Given the description of an element on the screen output the (x, y) to click on. 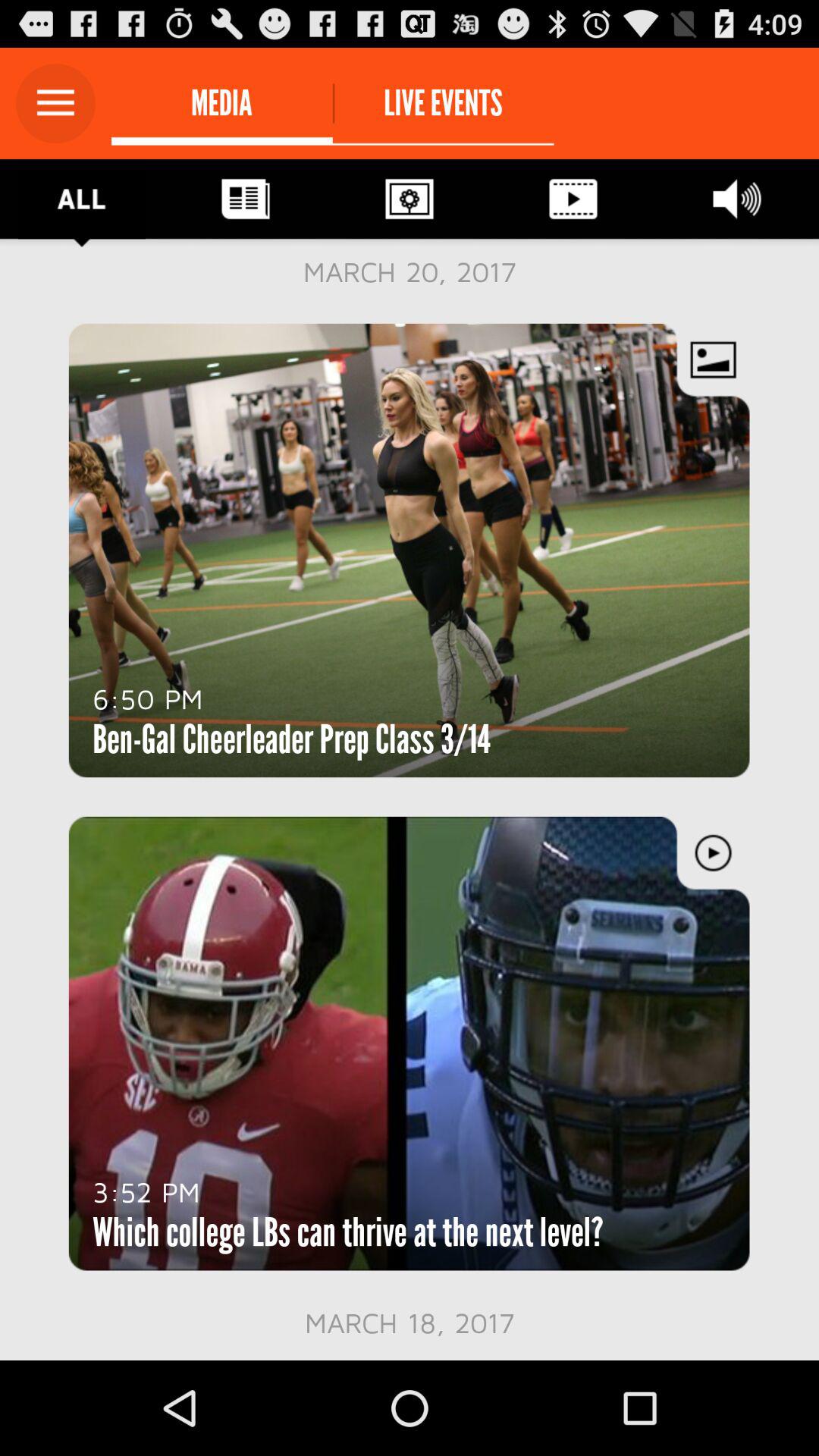
scroll to the ben gal cheerleader icon (291, 739)
